Given the description of an element on the screen output the (x, y) to click on. 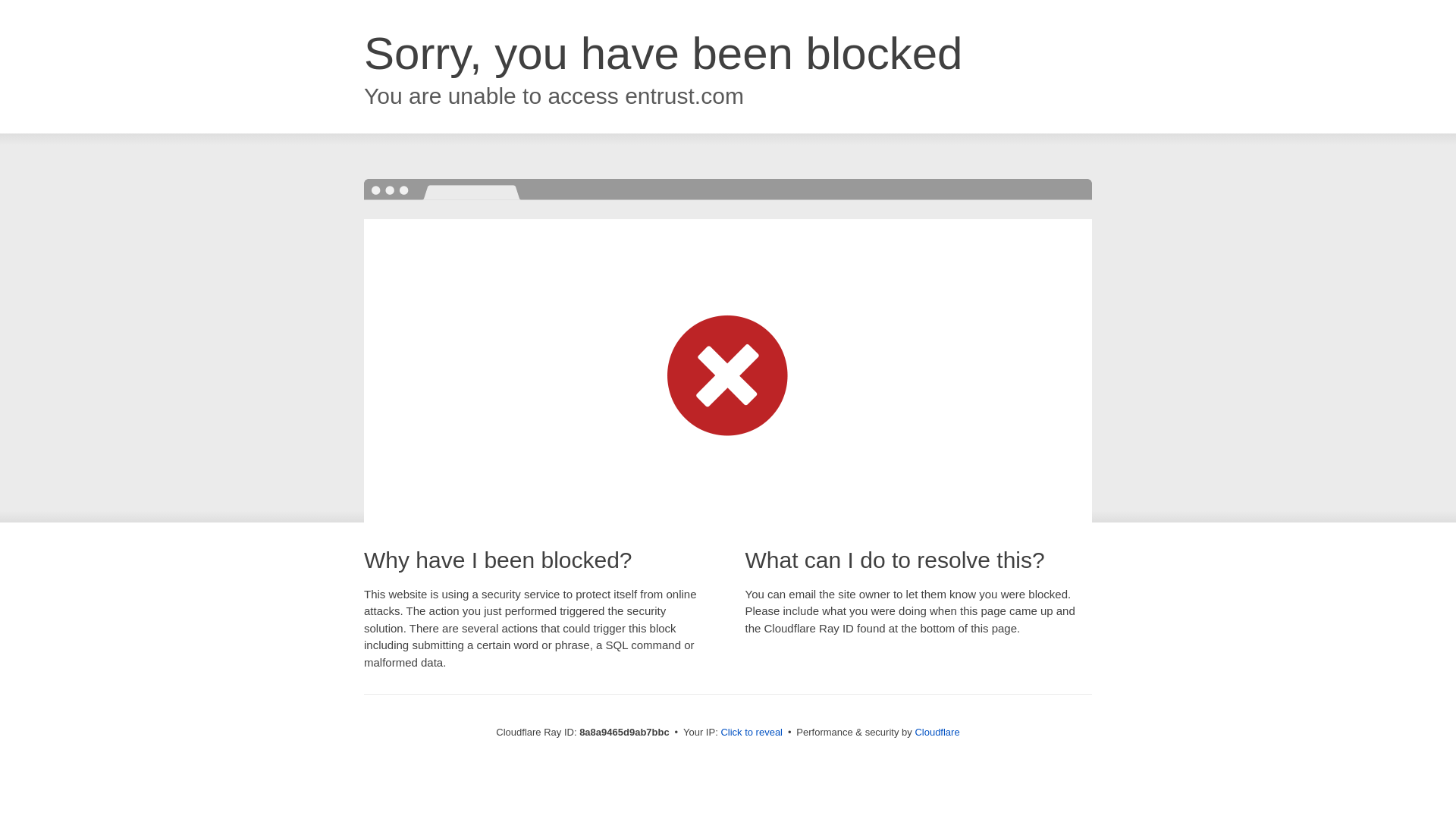
Cloudflare (936, 731)
Click to reveal (751, 732)
